Given the description of an element on the screen output the (x, y) to click on. 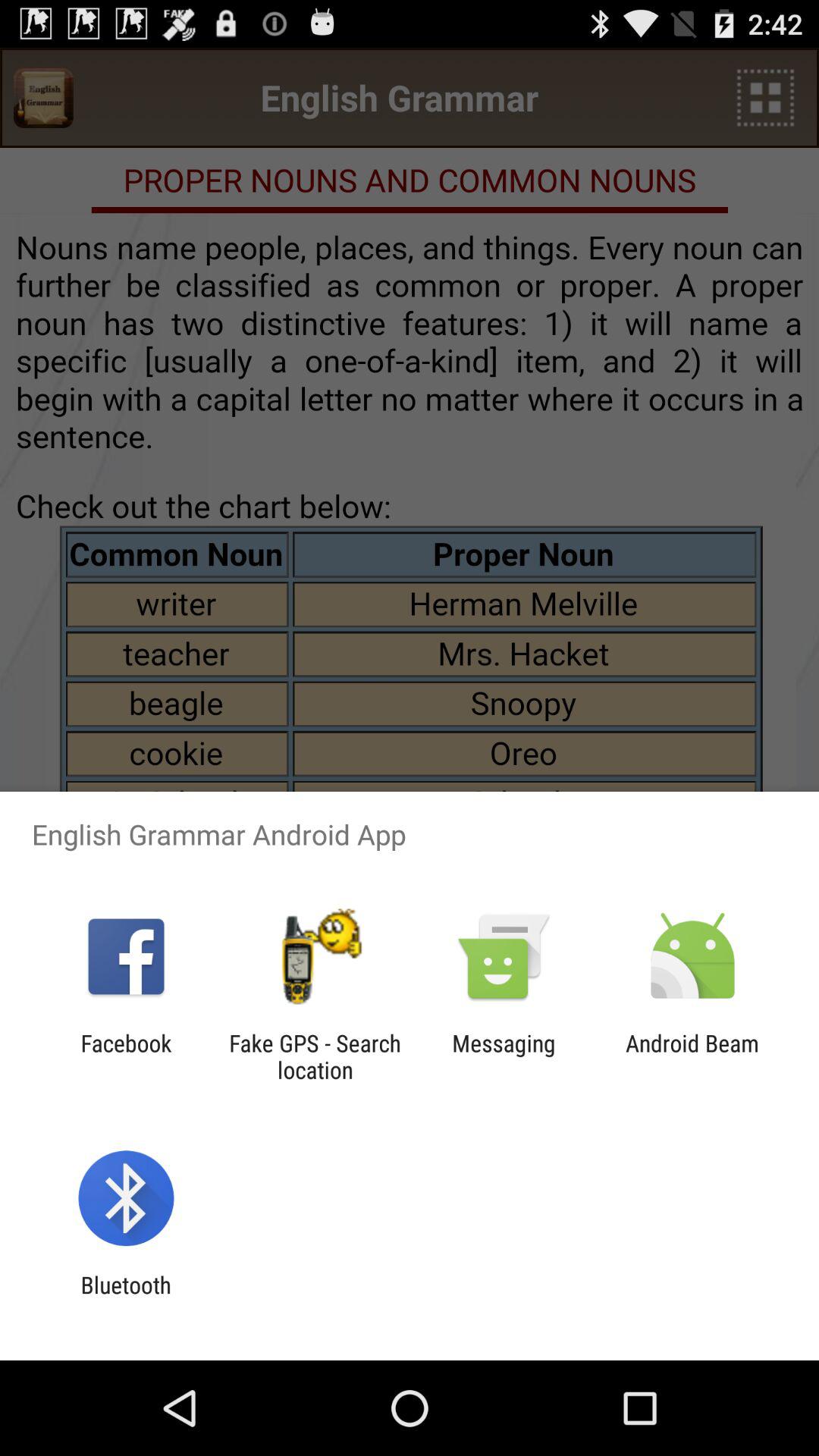
click the icon next to the messaging item (314, 1056)
